Given the description of an element on the screen output the (x, y) to click on. 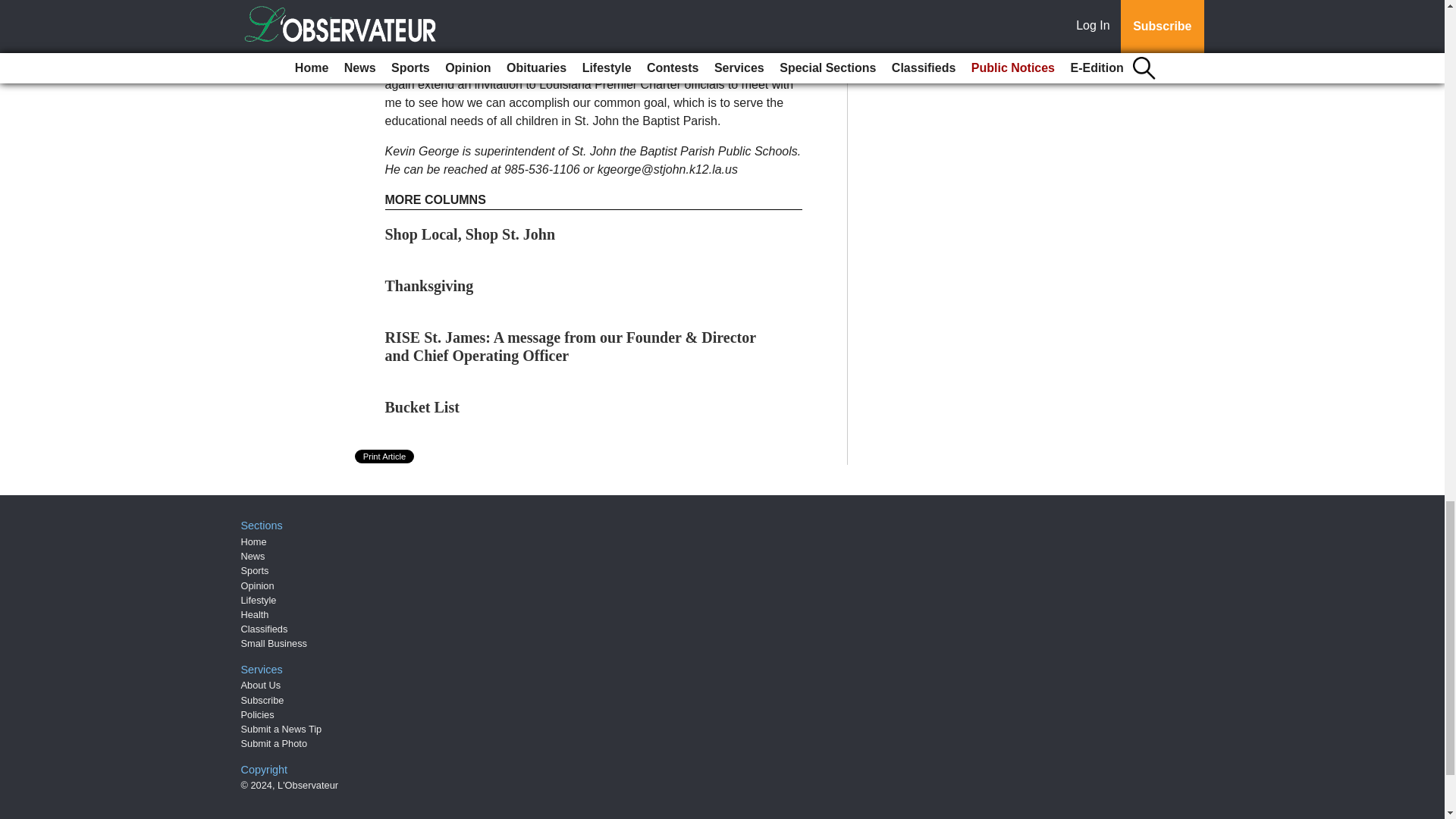
News (252, 555)
Thanksgiving (429, 285)
Bucket List (422, 406)
Sports (255, 570)
Shop Local,  Shop St. John (470, 234)
Home (253, 541)
Bucket List (422, 406)
Thanksgiving (429, 285)
Shop Local, Shop St. John (470, 234)
Print Article (384, 456)
More special sections (909, 53)
